Given the description of an element on the screen output the (x, y) to click on. 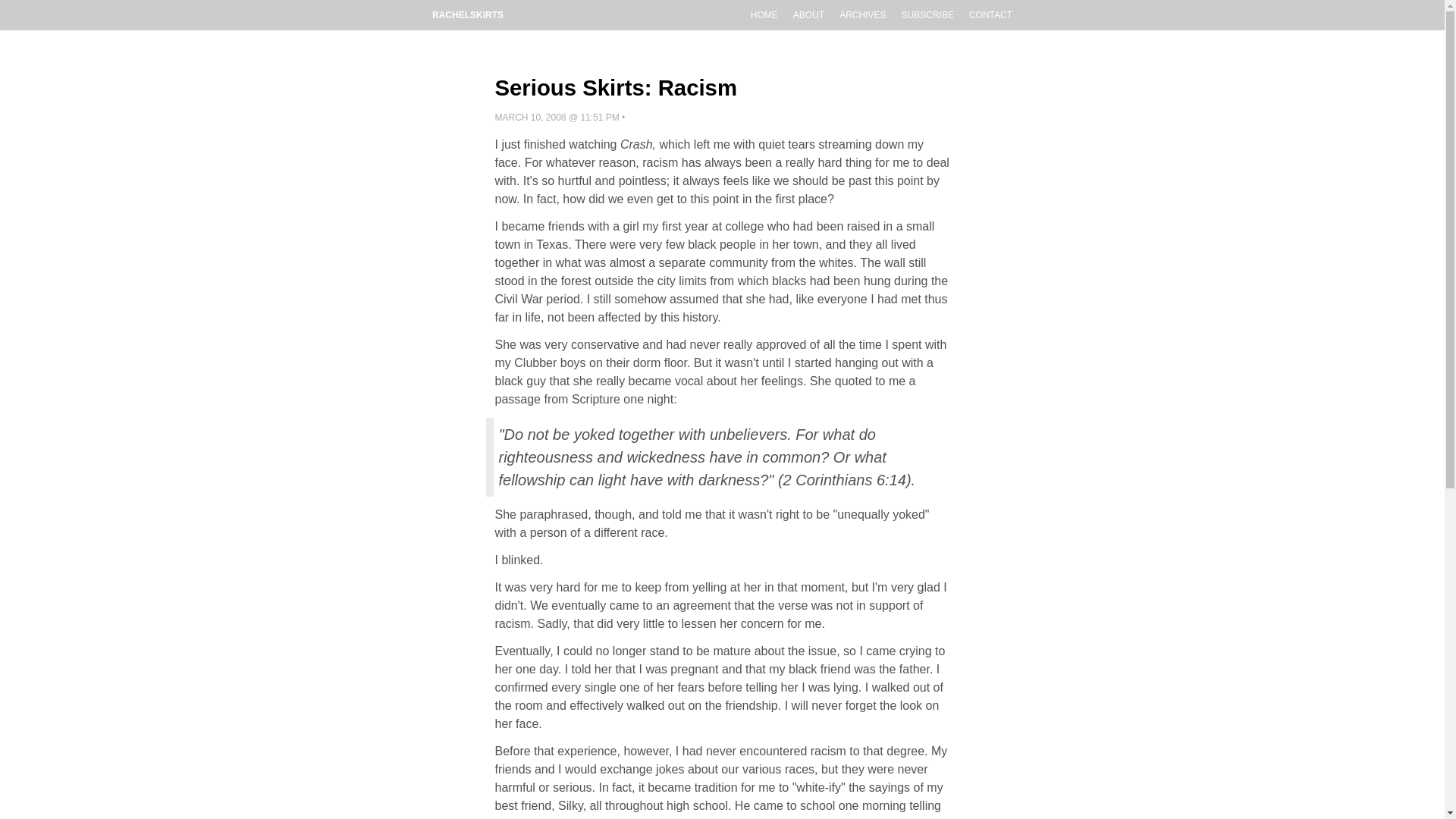
HOME (764, 15)
SUBSCRIBE (926, 15)
ARCHIVES (862, 15)
RACHELSKIRTS (468, 15)
CONTACT (990, 15)
ABOUT (808, 15)
Serious Skirts: Racism (615, 87)
